Given the description of an element on the screen output the (x, y) to click on. 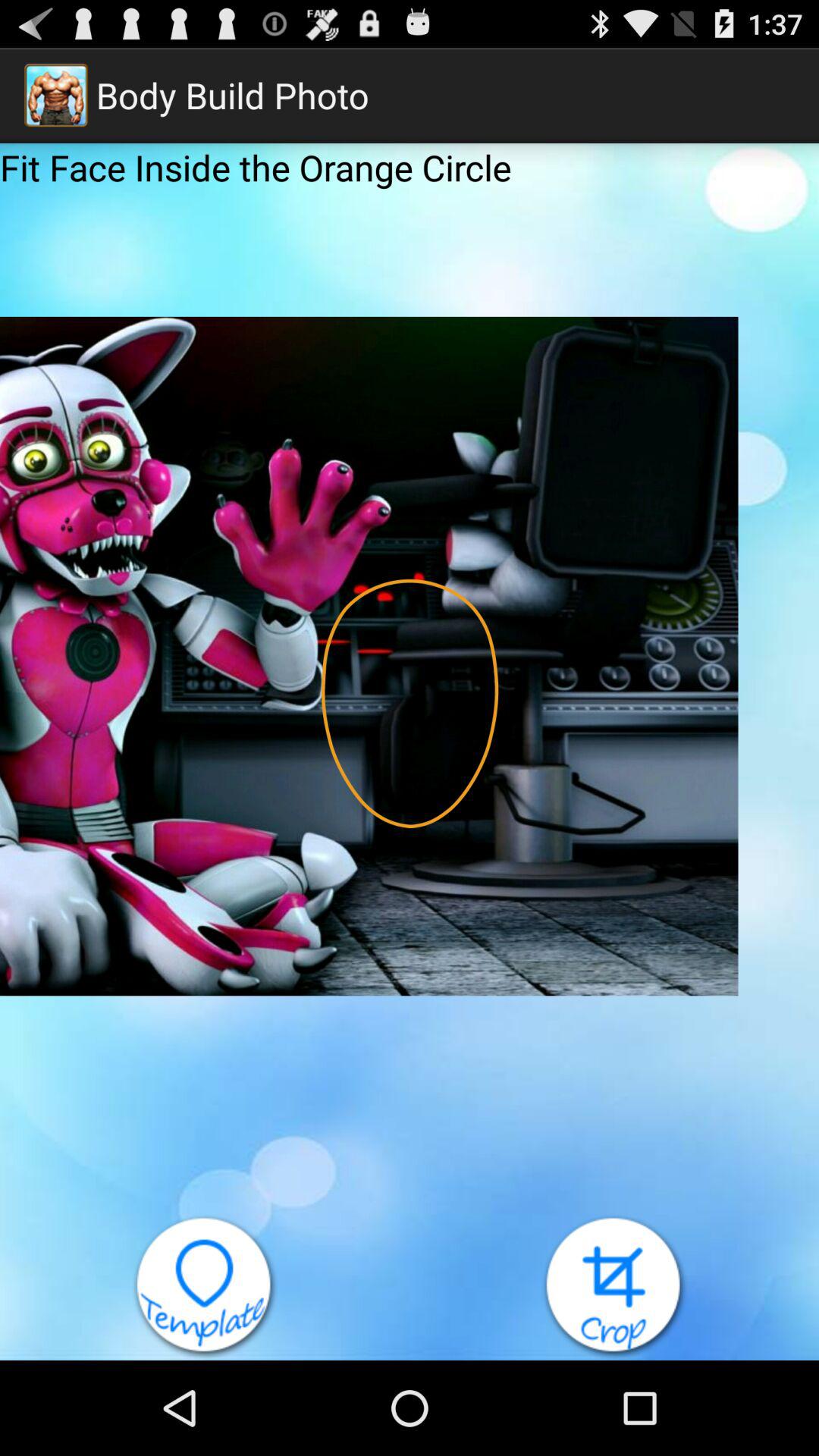
crop image (614, 1287)
